Given the description of an element on the screen output the (x, y) to click on. 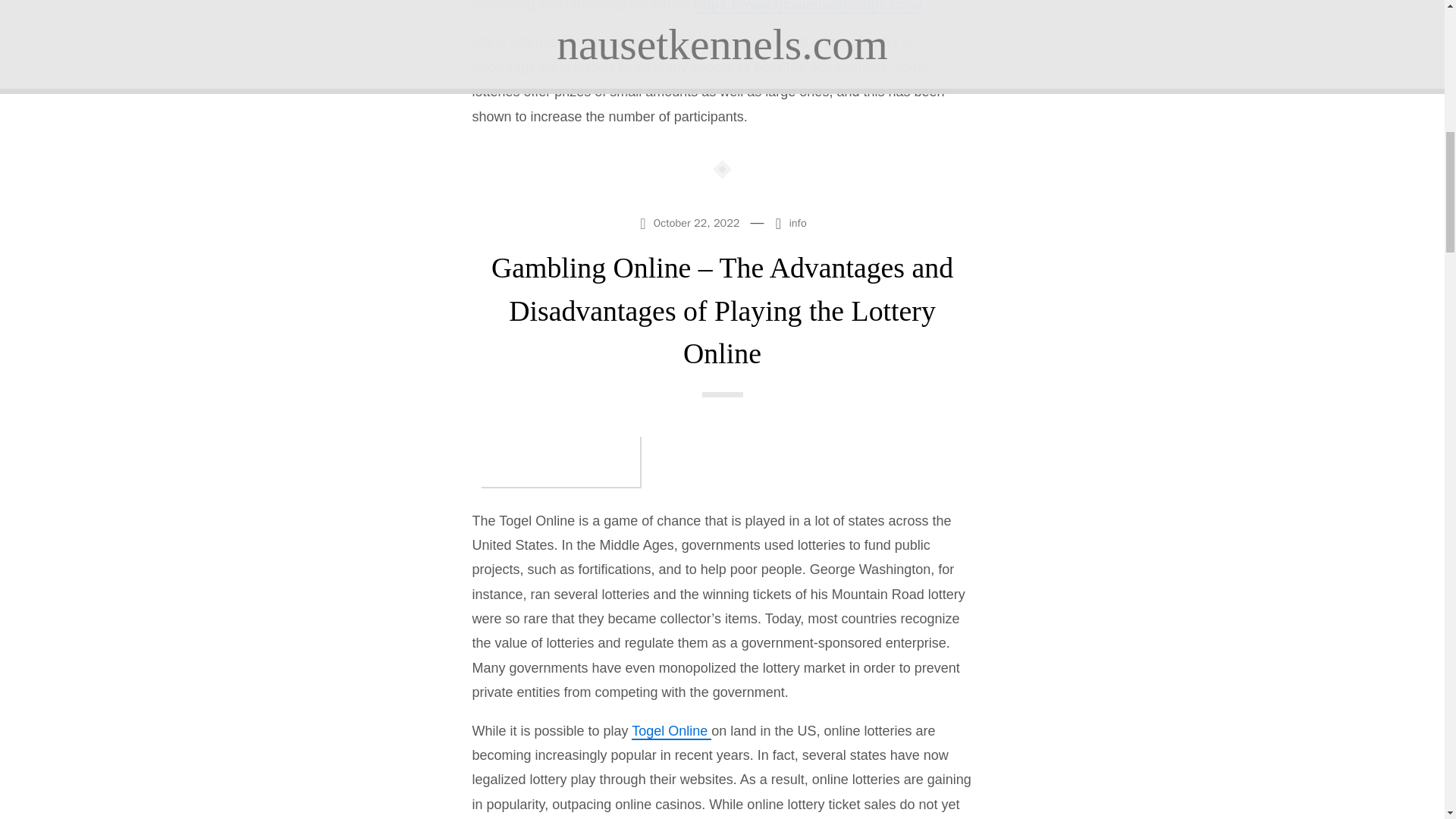
Togel Online (671, 731)
October 22, 2022 (690, 222)
info (797, 223)
